Given the description of an element on the screen output the (x, y) to click on. 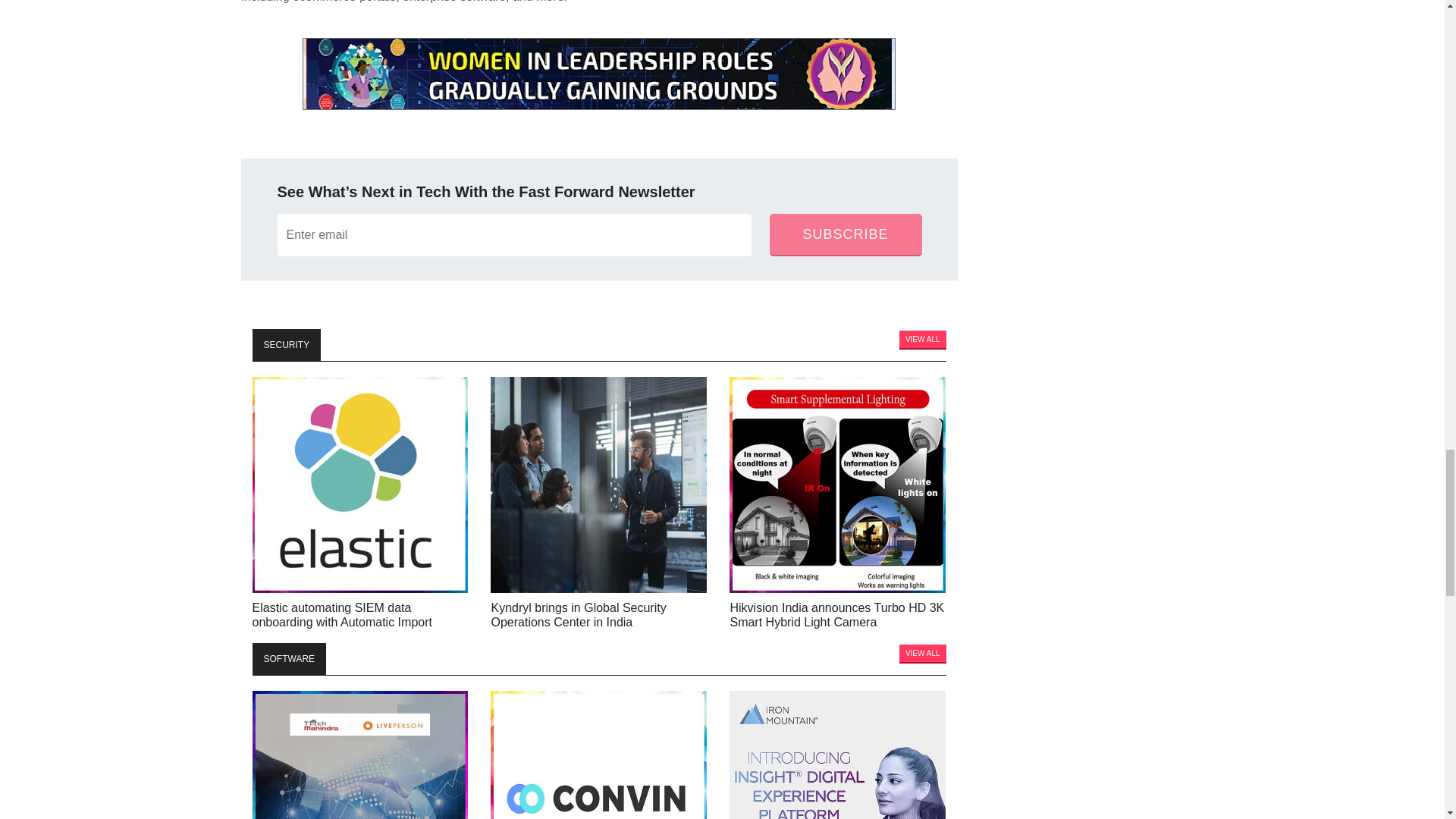
Kyndryl brings in Global Security Operations Center in India (598, 484)
Iron Mountain offers secure SaaS platform InSight DXP (836, 755)
